Given the description of an element on the screen output the (x, y) to click on. 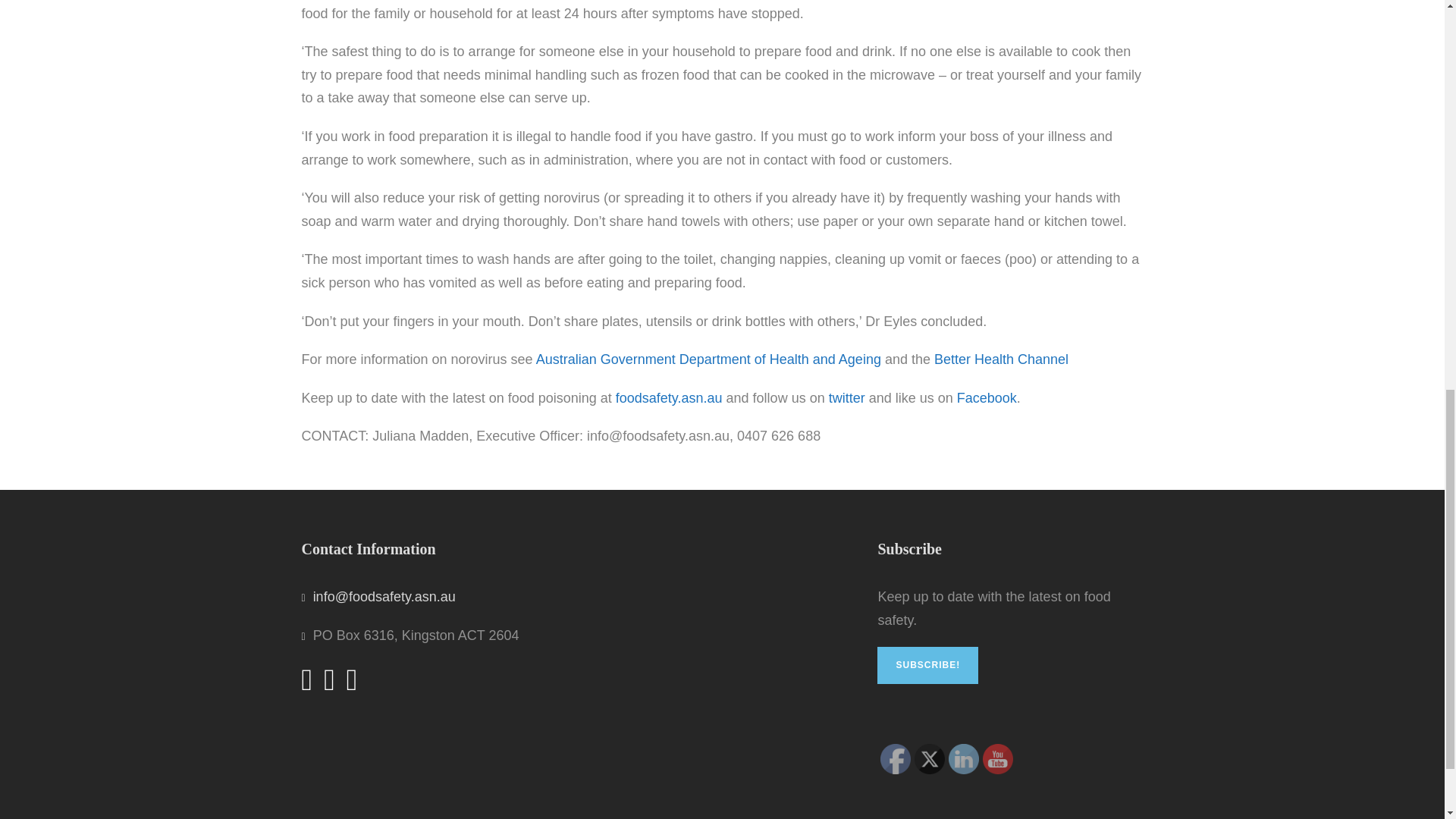
LinkedIn (963, 758)
Twitter (929, 758)
Vist us (997, 758)
Facebook (895, 758)
